Given the description of an element on the screen output the (x, y) to click on. 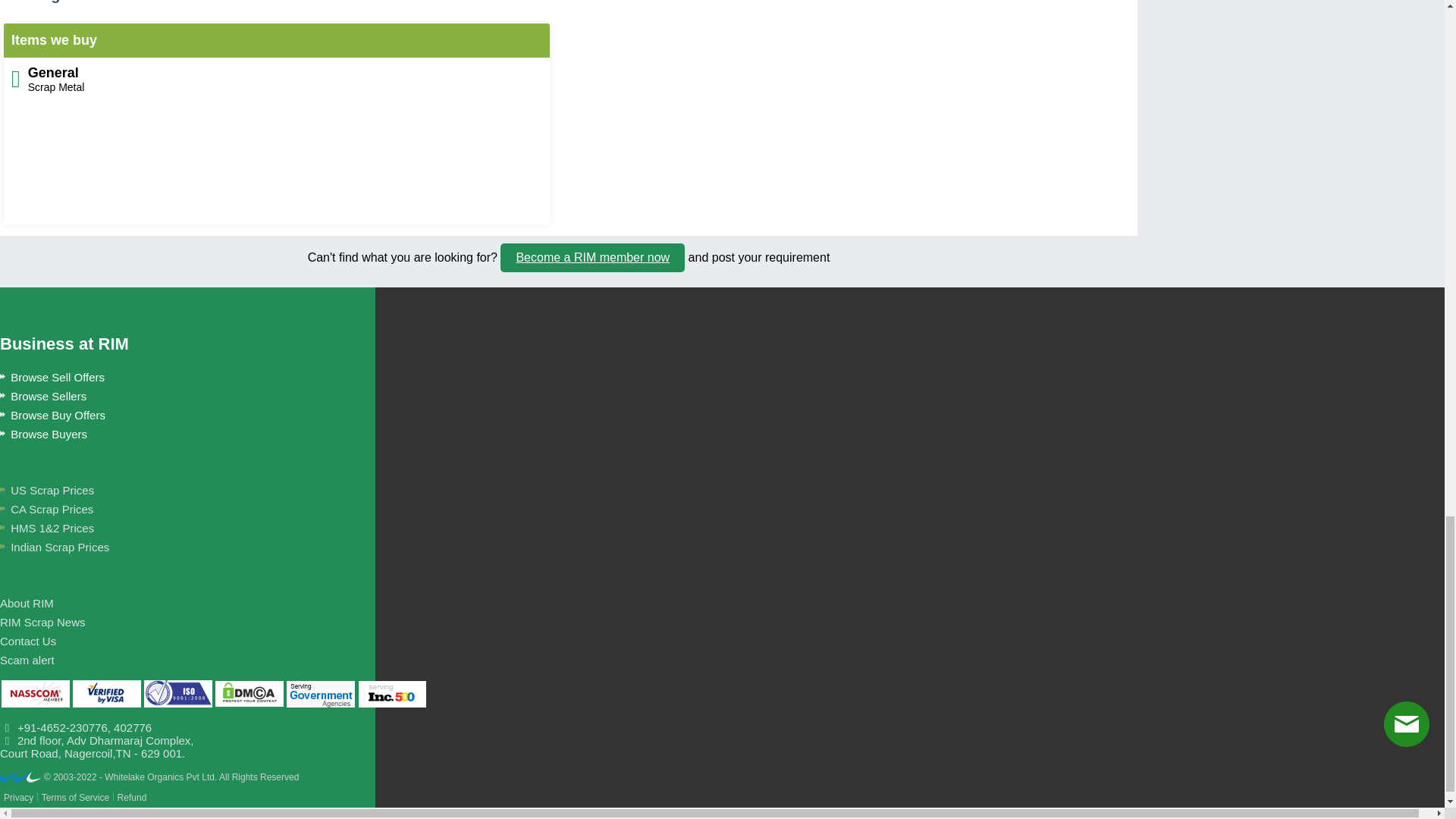
Canada Scrap Prices (46, 508)
Become a RIM member now (592, 257)
Browse Buy Offers (52, 414)
Browse Buyers (43, 433)
Browse Sellers (42, 395)
US Plastic prices (54, 546)
US Scrap Prices (47, 490)
Browse Sell Offers (52, 377)
